Given the description of an element on the screen output the (x, y) to click on. 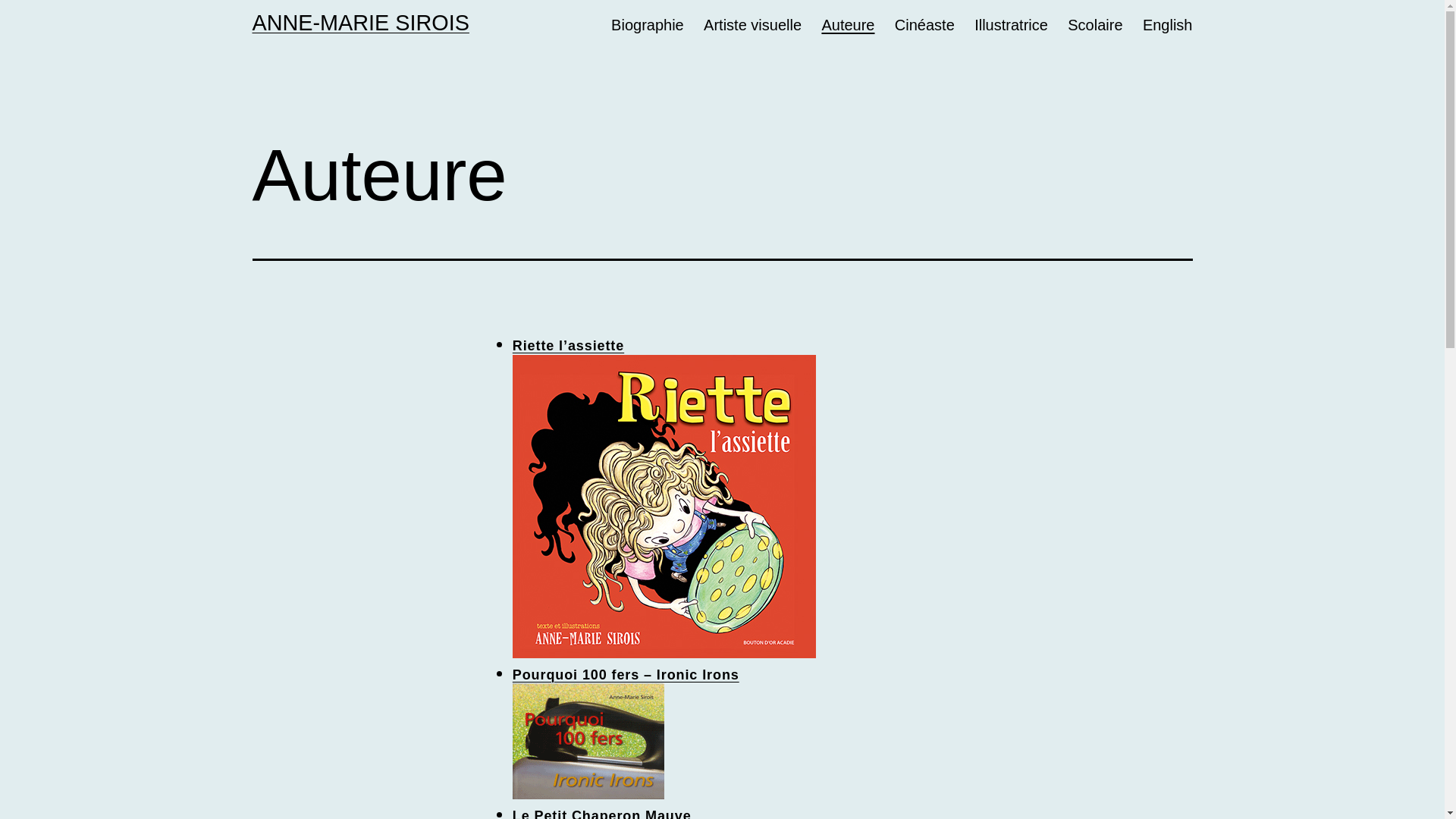
Auteure Element type: text (847, 24)
Artiste visuelle Element type: text (752, 24)
Riette l'assiette Element type: hover (663, 504)
Biographie Element type: text (647, 24)
ANNE-MARIE SIROIS Element type: text (359, 22)
Illustratrice Element type: text (1010, 24)
Scolaire Element type: text (1094, 24)
Pourquoi 100 fers - Ironic Irons Element type: hover (588, 739)
English Element type: text (1167, 24)
